Given the description of an element on the screen output the (x, y) to click on. 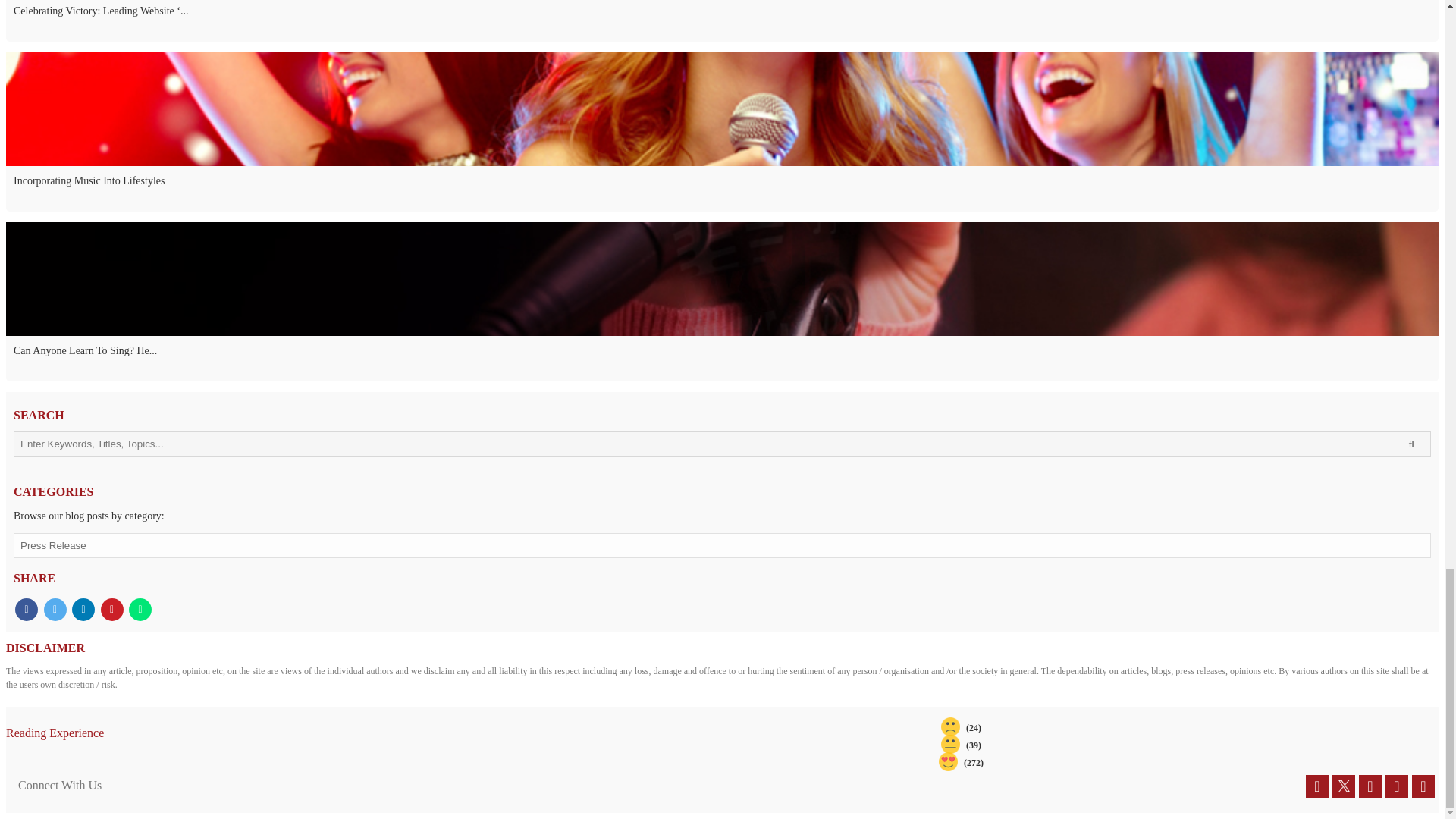
Youtube (1369, 785)
Incorporating Music Into Lifestyles (722, 188)
Pinterest (1396, 785)
Facebook (1316, 785)
Instagram (1423, 785)
Twitter (1343, 785)
